Given the description of an element on the screen output the (x, y) to click on. 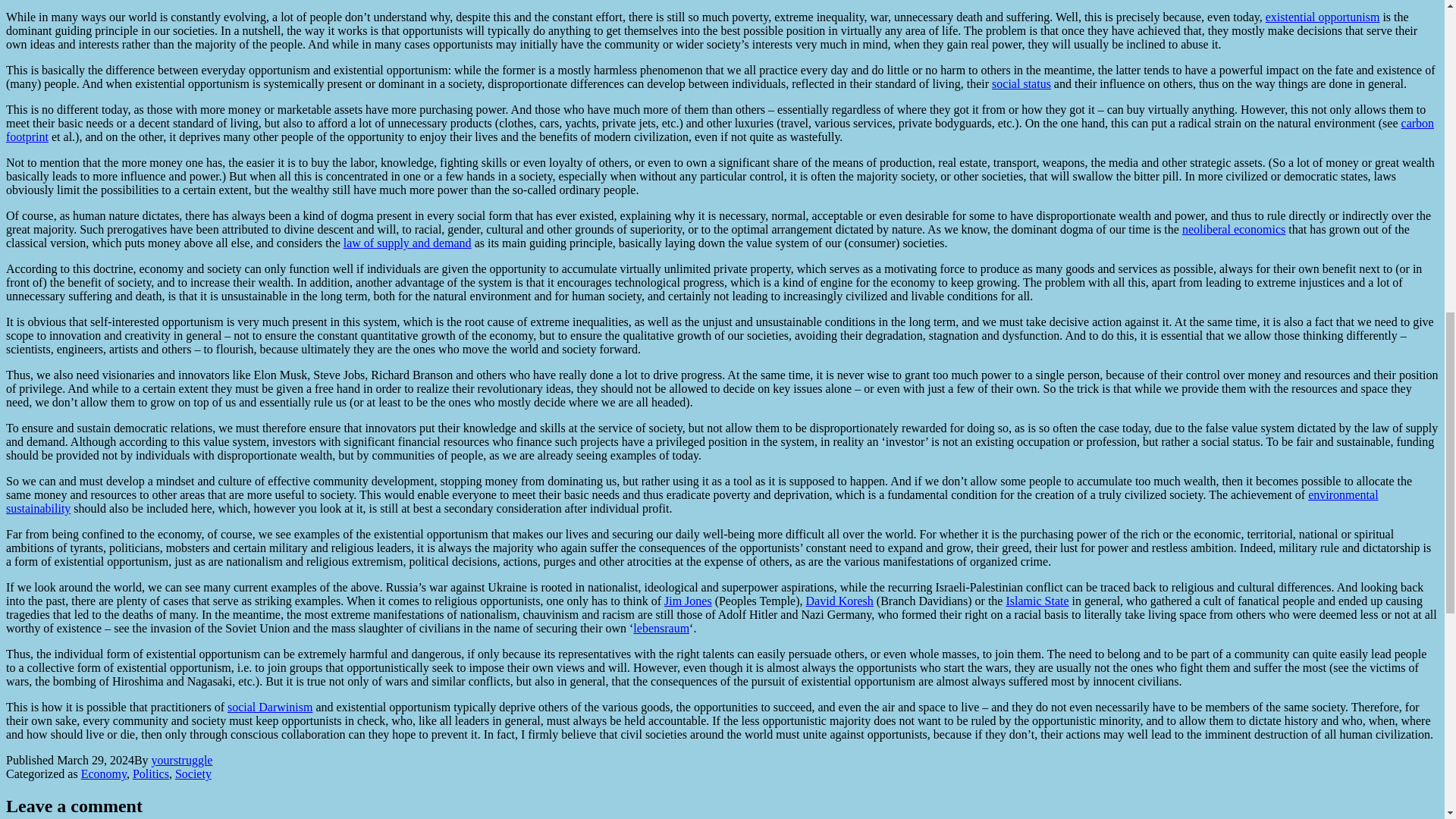
environmental sustainability (691, 501)
law of supply and demand (407, 242)
social status (1021, 83)
social Darwinism (270, 707)
Politics (150, 773)
Jim Jones (687, 600)
existential opportunism (1322, 16)
yourstruggle (181, 759)
Islamic State (1037, 600)
Society (192, 773)
Economy (103, 773)
David Koresh (839, 600)
lebensraum (660, 627)
neoliberal economics (1233, 228)
